Given the description of an element on the screen output the (x, y) to click on. 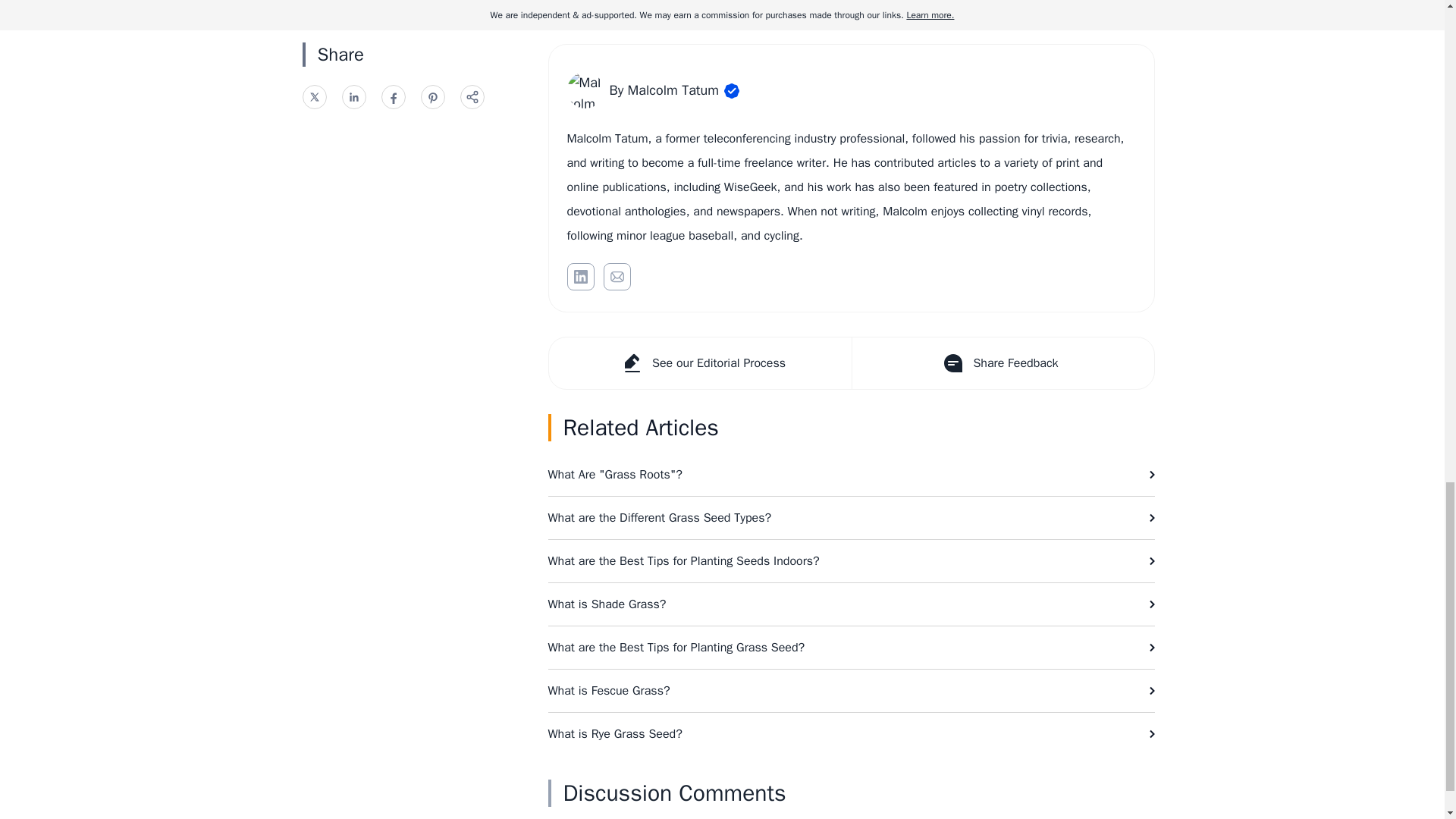
Share Feedback (1001, 363)
What is Rye Grass Seed? (850, 733)
What is Shade Grass? (850, 604)
What are the Best Tips for Planting Grass Seed? (850, 647)
What are the Different Grass Seed Types? (850, 517)
What are the Best Tips for Planting Seeds Indoors? (850, 560)
See our Editorial Process (699, 363)
What is Fescue Grass? (850, 690)
What Are "Grass Roots"? (850, 474)
